Given the description of an element on the screen output the (x, y) to click on. 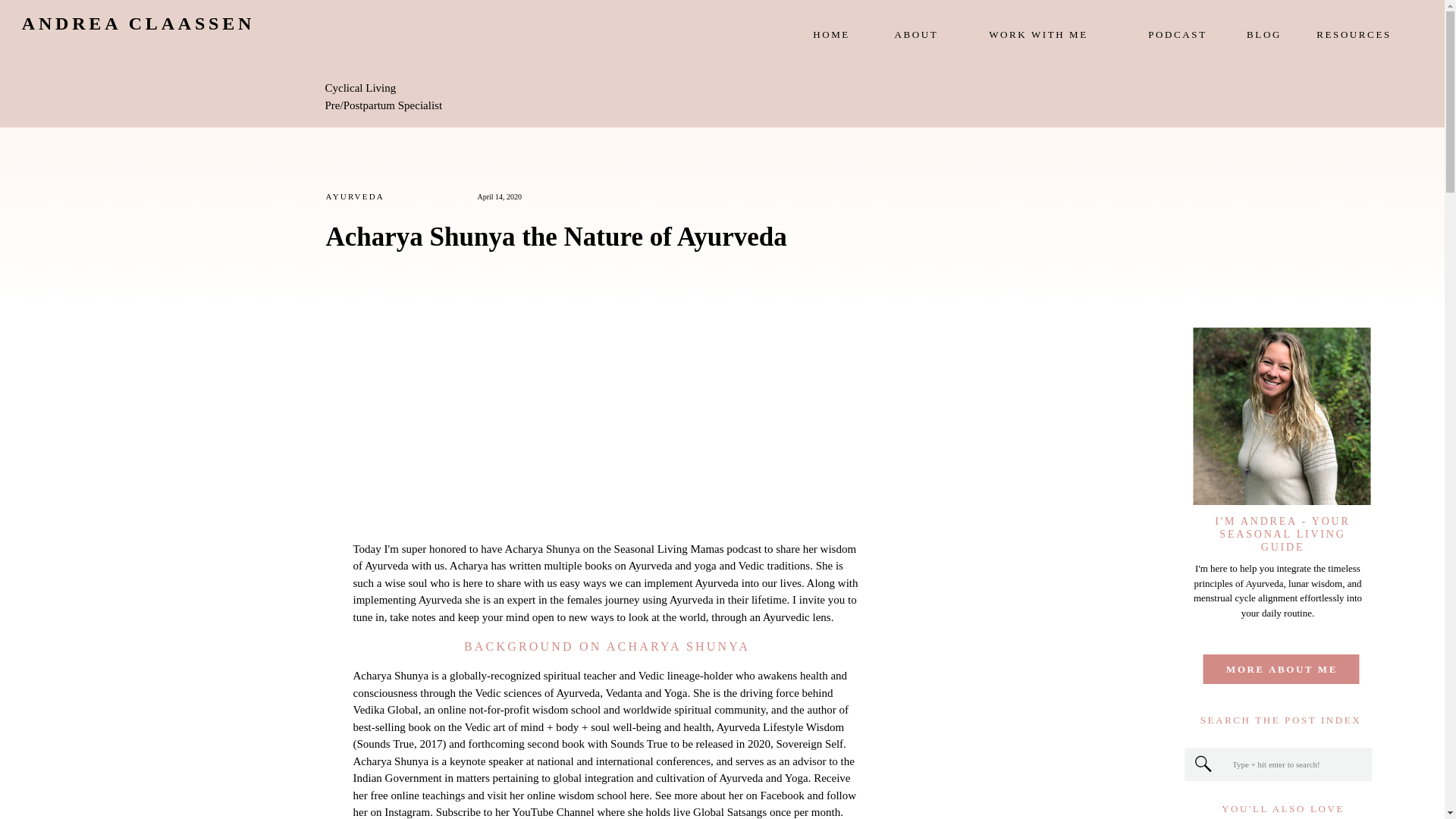
ABOUT (916, 35)
ANDREA CLAASSEN (138, 33)
MORE ABOUT ME (1281, 668)
PODCAST (1176, 35)
BLOG (1264, 35)
AYURVEDA (355, 195)
WORK WITH ME (1037, 35)
HOME (831, 35)
RESOURCES (1353, 35)
